Given the description of an element on the screen output the (x, y) to click on. 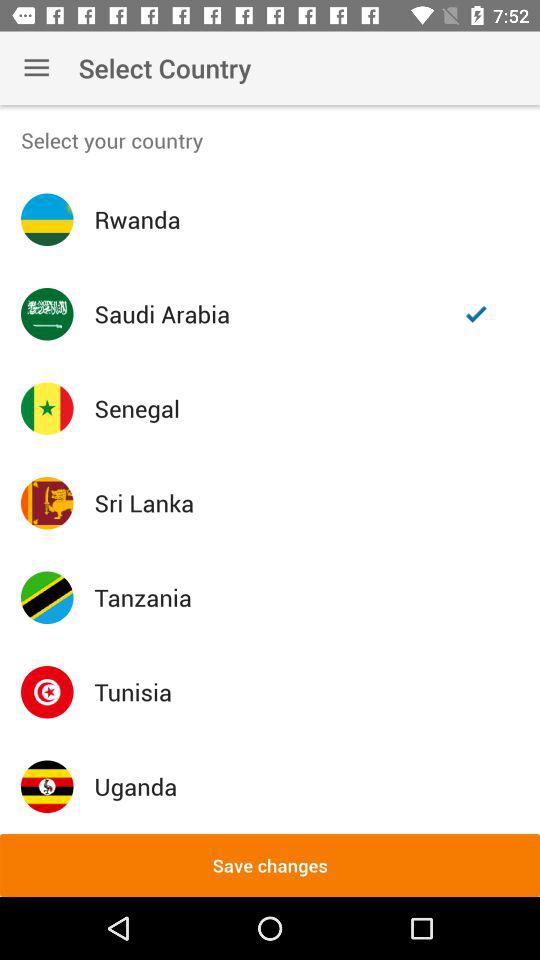
choose the icon next to the select country item (36, 68)
